Given the description of an element on the screen output the (x, y) to click on. 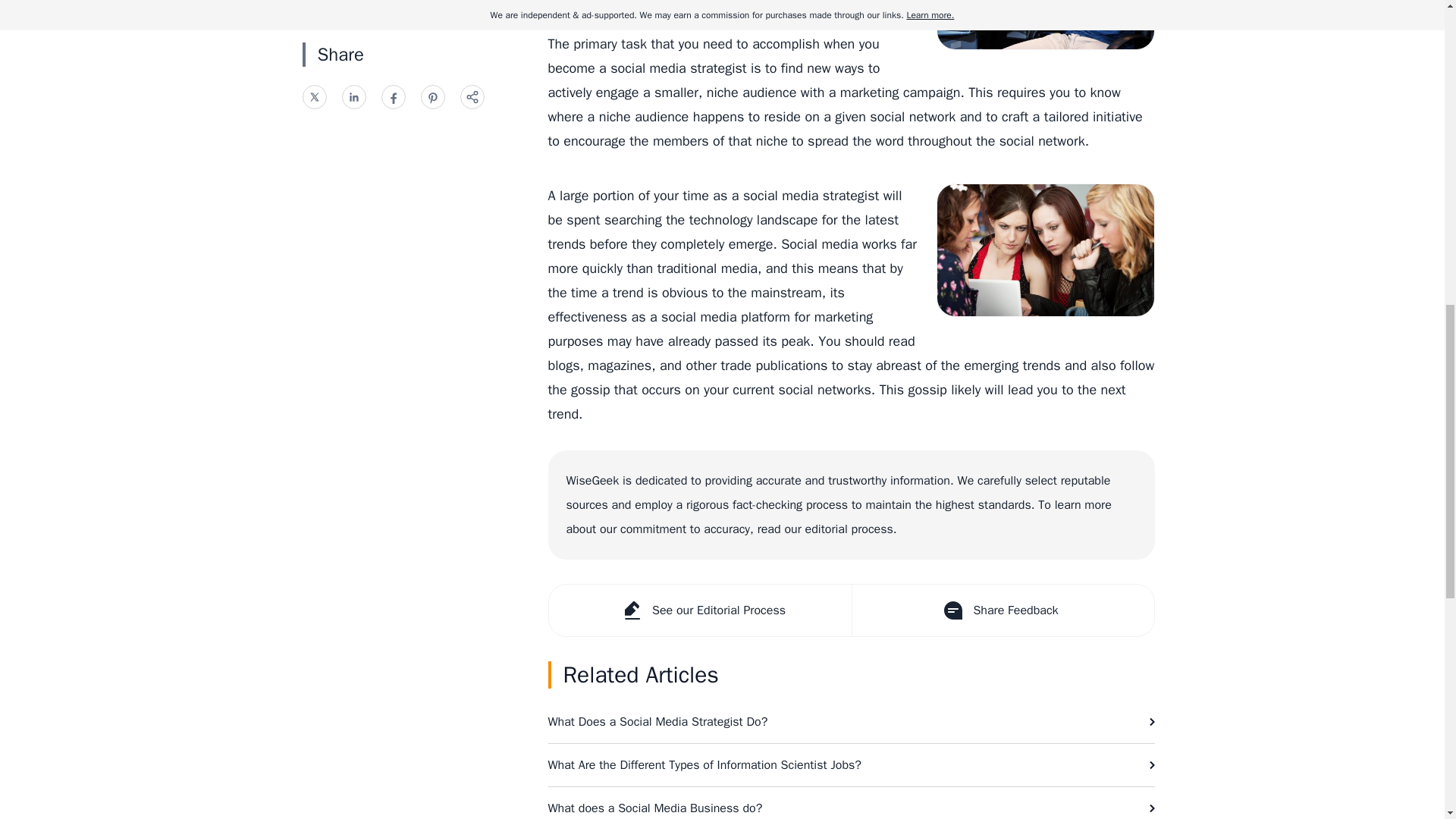
What Does a Social Media Strategist Do? (850, 721)
See our Editorial Process (699, 610)
What does a Social Media Business do? (850, 803)
What Are the Different Types of Information Scientist Jobs? (850, 764)
Share Feedback (1001, 610)
